Given the description of an element on the screen output the (x, y) to click on. 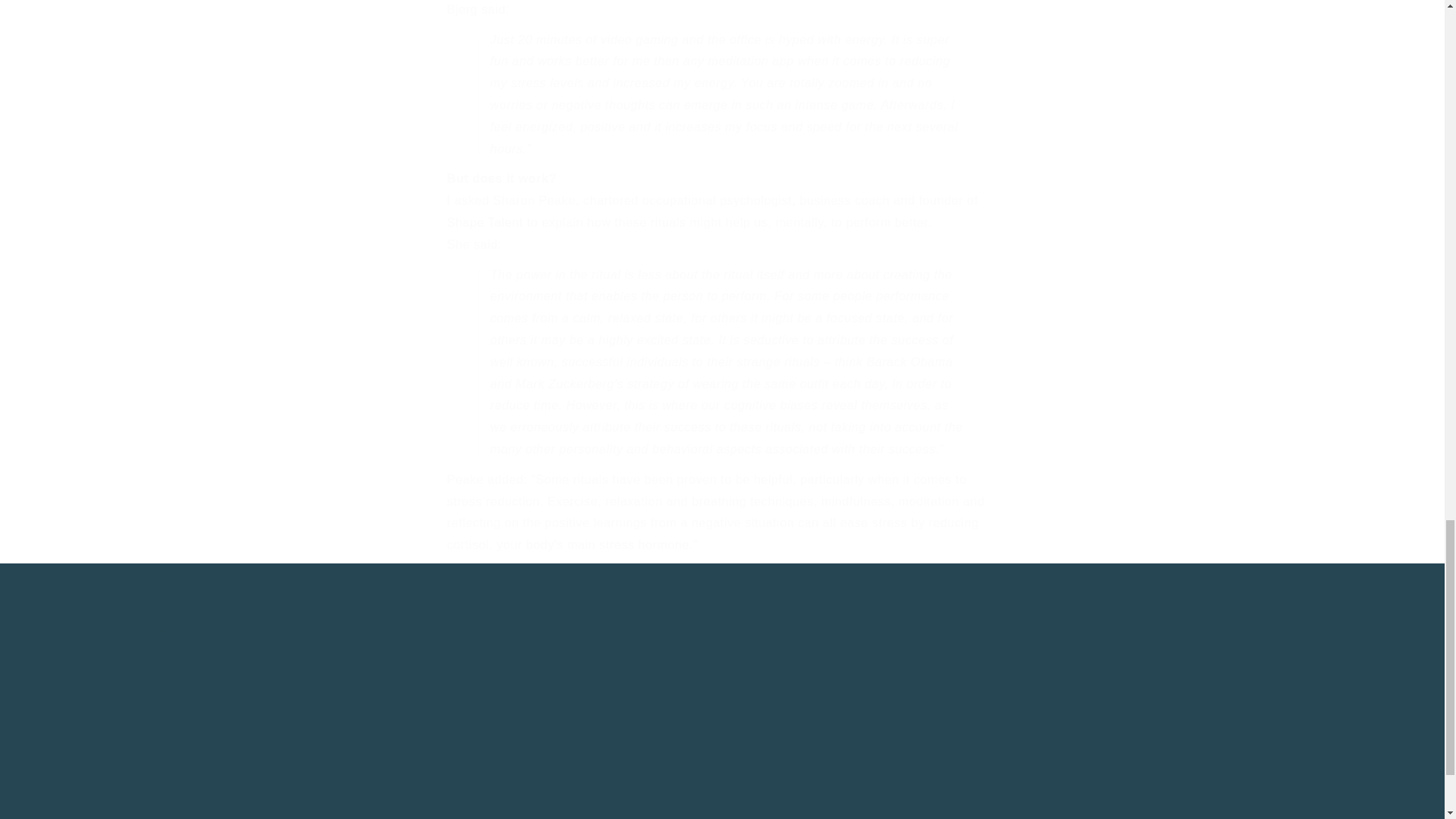
Our Impact (631, 702)
Shape Talent (422, 690)
Blog And Resources (484, 222)
About Us (447, 718)
Wholesale (579, 666)
B2B Wholesale (421, 744)
